Given the description of an element on the screen output the (x, y) to click on. 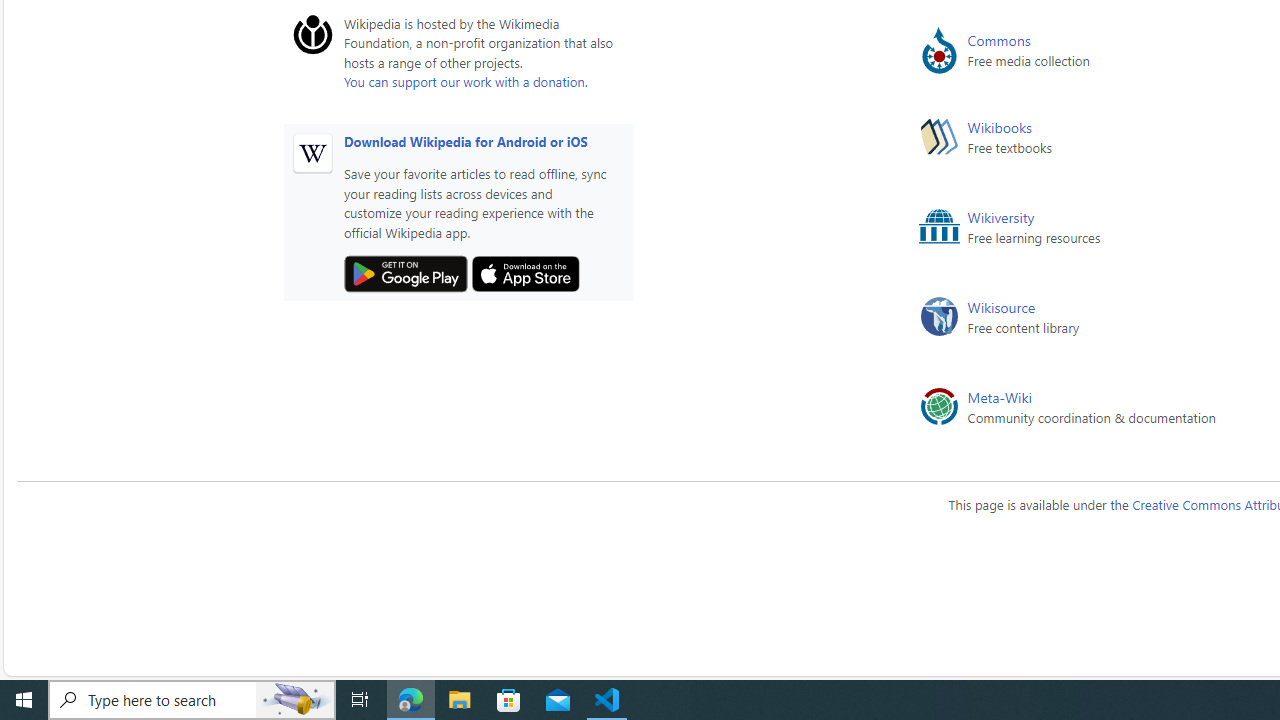
Google Play Store (405, 273)
Google Play Store (405, 273)
Download Wikipedia for Android or iOS (465, 140)
You can support our work with a donation. (465, 81)
Apple App Store (526, 273)
Apple App Store (526, 273)
